Given the description of an element on the screen output the (x, y) to click on. 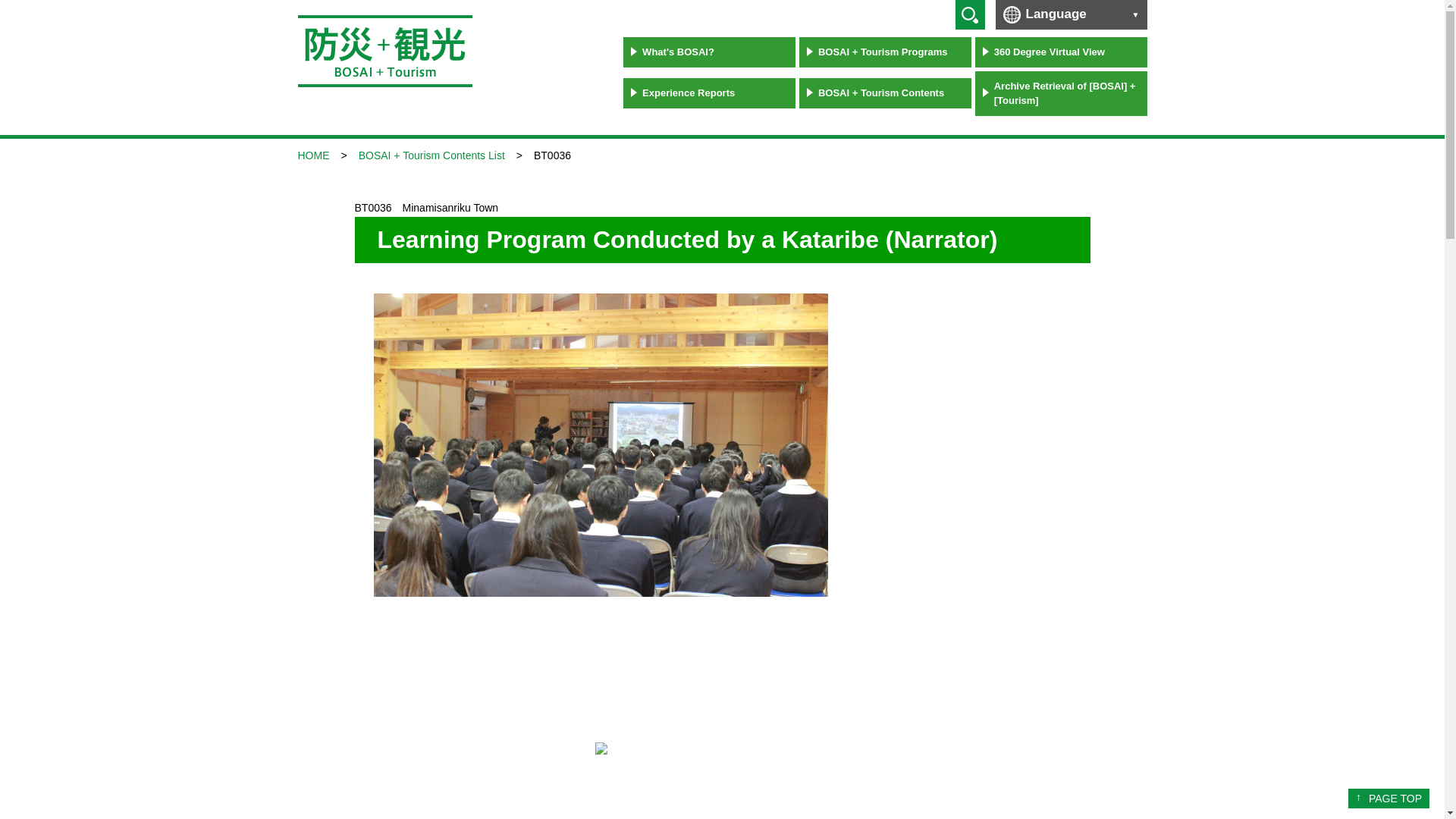
What's BOSAI? (708, 51)
PAGE TOP (1388, 798)
HOME (313, 154)
360 Degree Virtual View (1061, 51)
Experience Reports (708, 92)
